Given the description of an element on the screen output the (x, y) to click on. 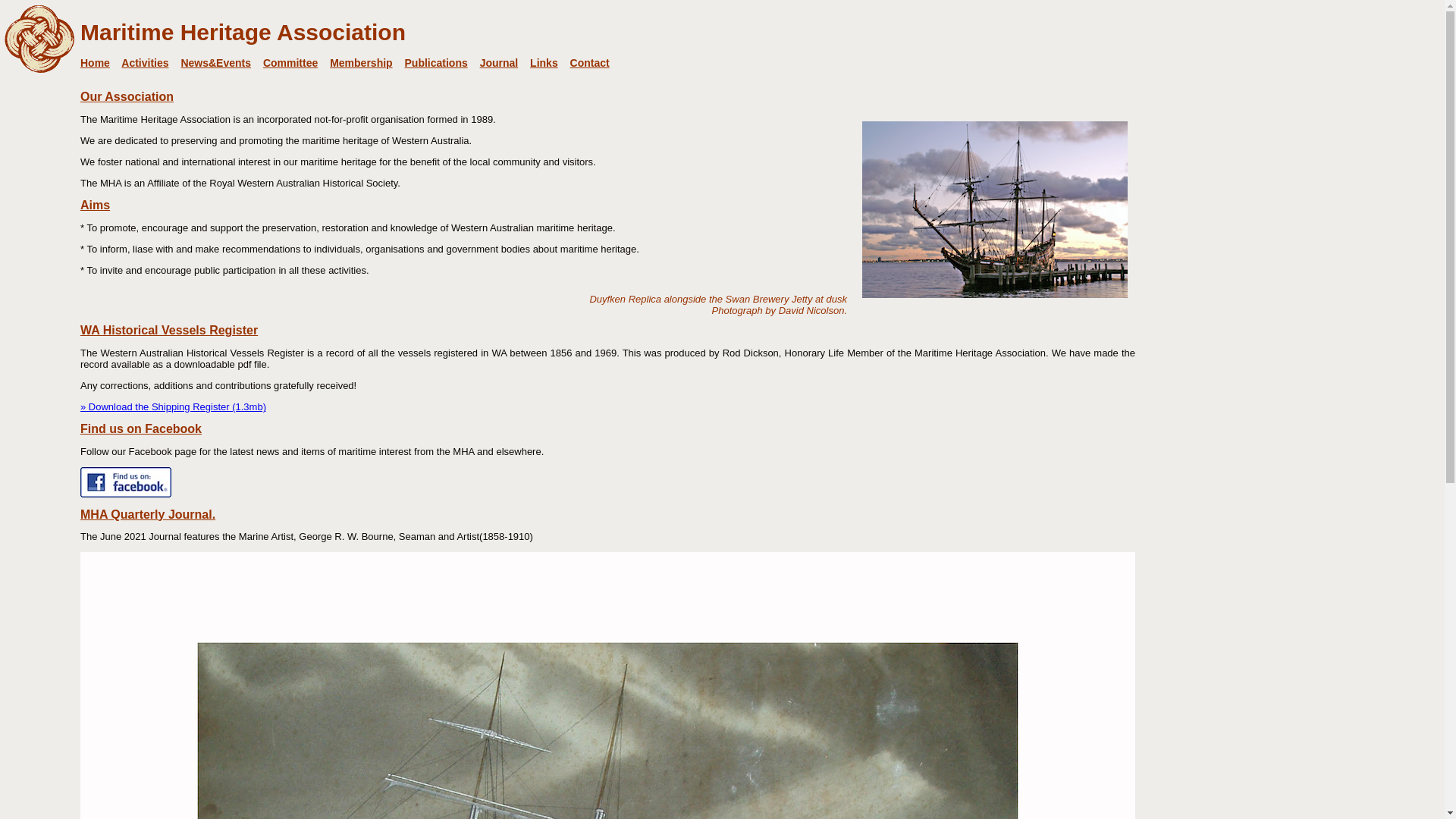
Activities Element type: text (144, 62)
Journal Element type: text (499, 62)
News&Events Element type: text (215, 62)
Membership Element type: text (360, 62)
Links Element type: text (544, 62)
Publications Element type: text (435, 62)
Committee Element type: text (290, 62)
Home Element type: text (94, 62)
Contact Element type: text (589, 62)
